Given the description of an element on the screen output the (x, y) to click on. 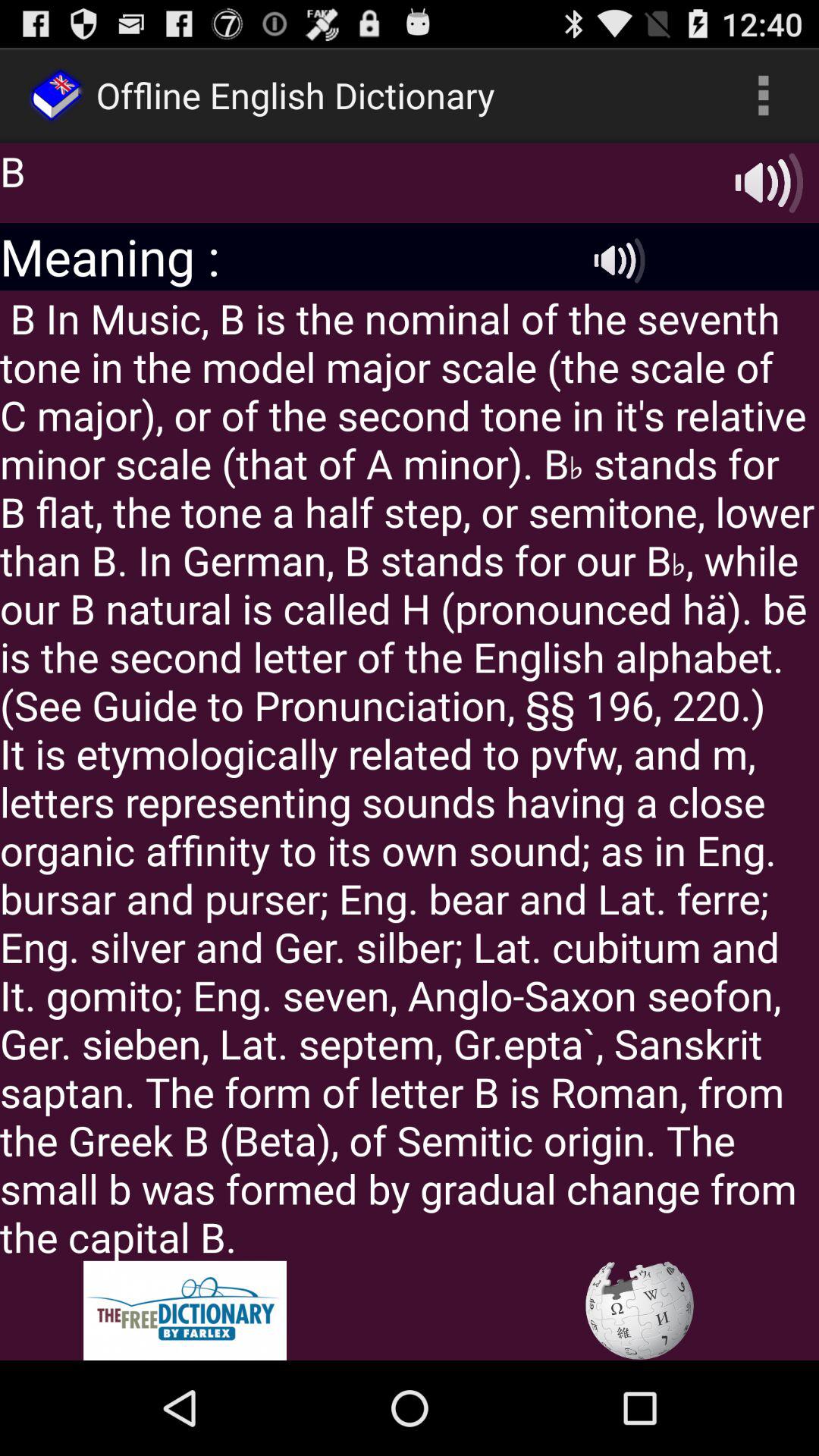
open the item at the center (409, 775)
